Given the description of an element on the screen output the (x, y) to click on. 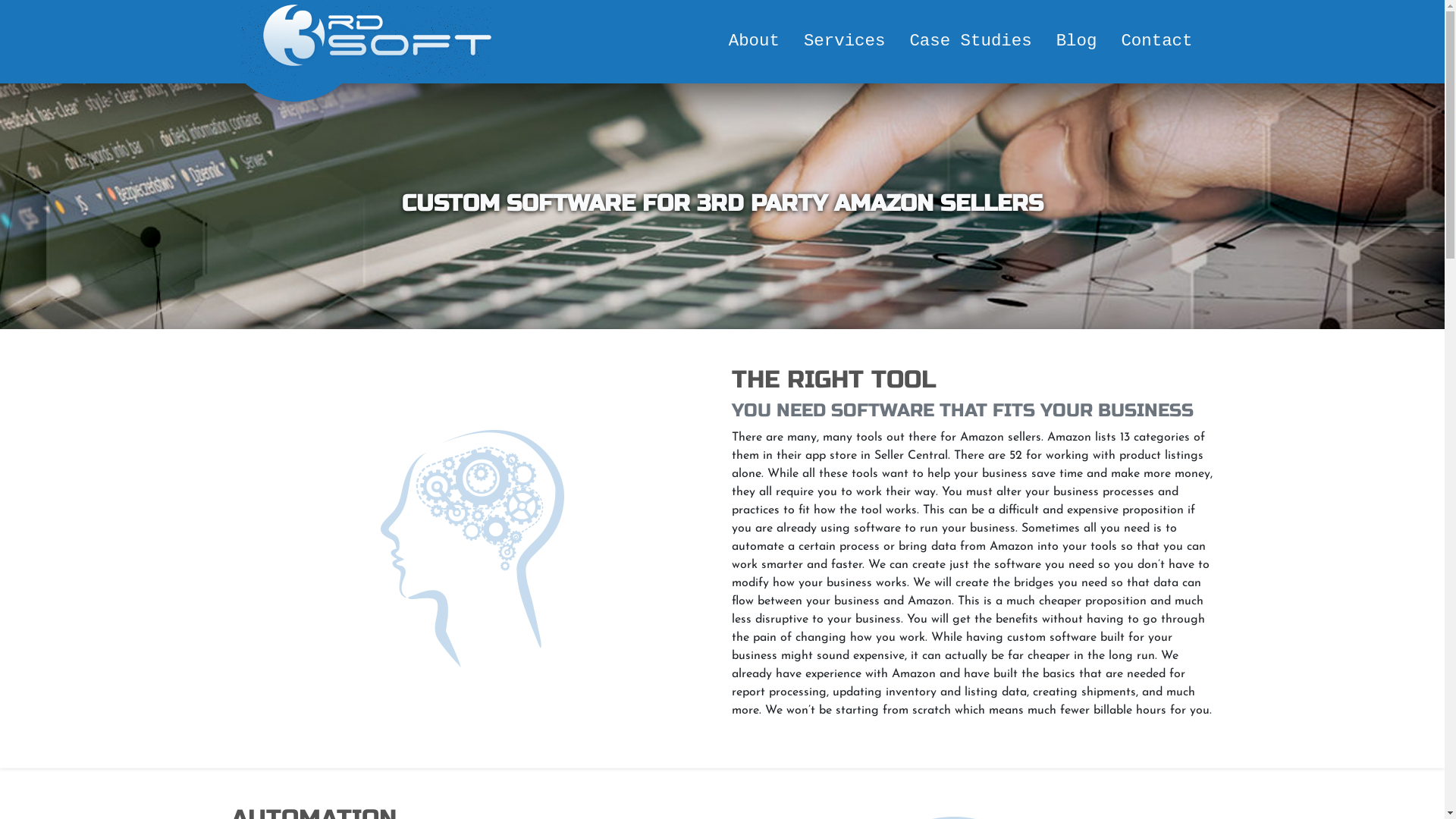
About Element type: text (753, 41)
Contact Element type: text (1156, 41)
Case Studies Element type: text (970, 41)
Services Element type: text (844, 41)
Blog Element type: text (1076, 41)
